Given the description of an element on the screen output the (x, y) to click on. 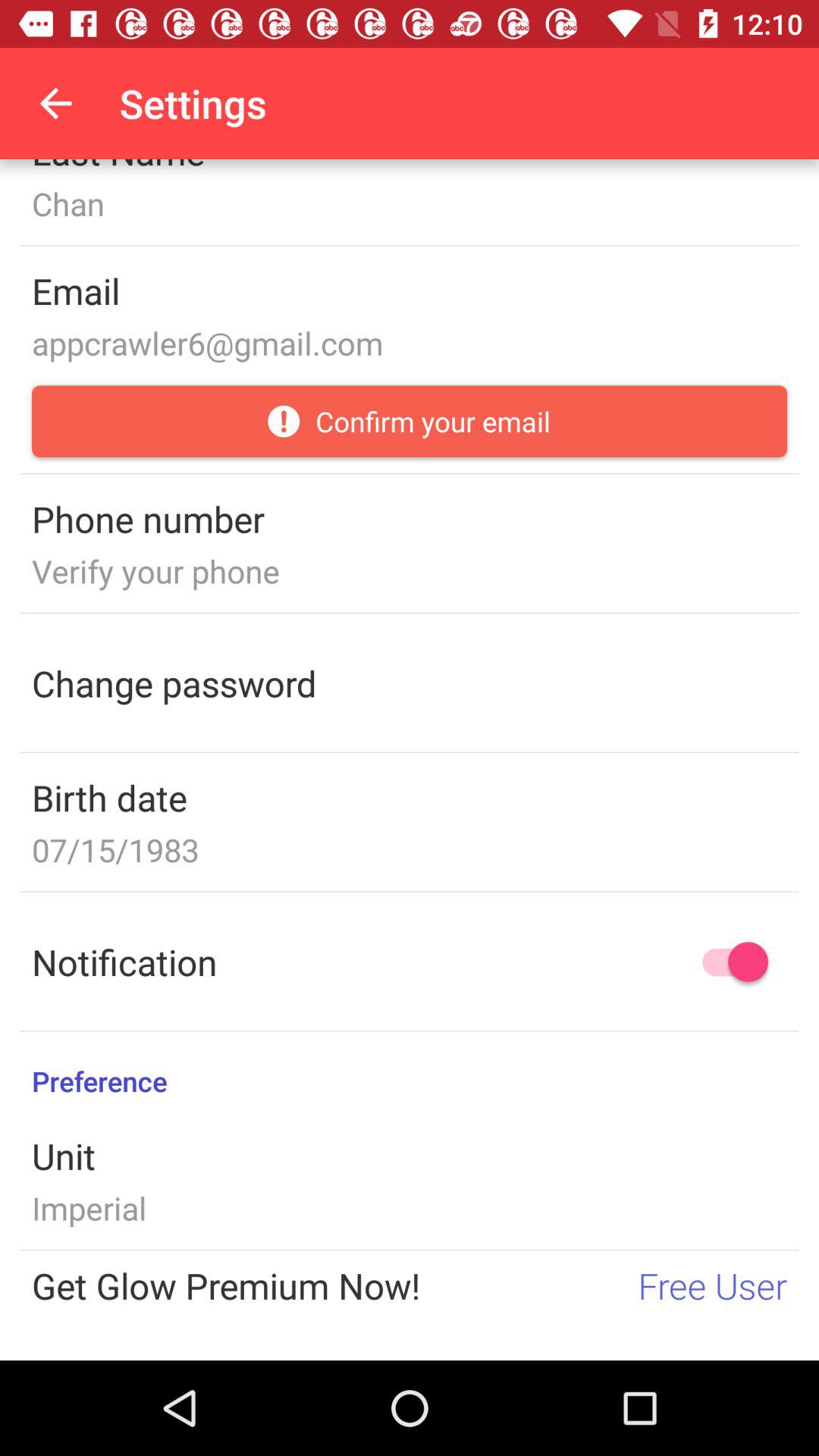
select the item next to the get glow premium icon (712, 1285)
